Given the description of an element on the screen output the (x, y) to click on. 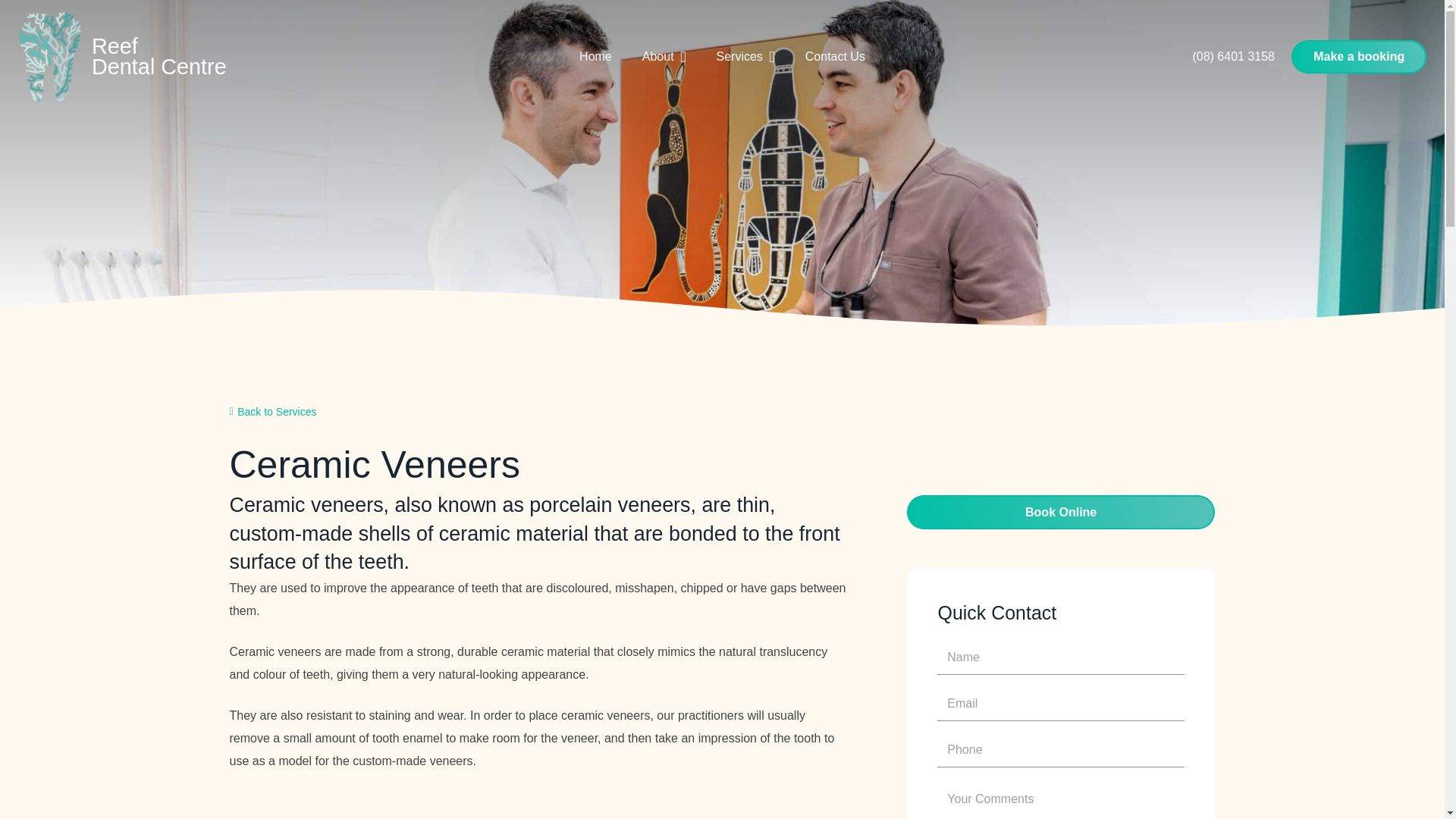
Book Online (1061, 512)
Make a booking (1358, 57)
Back to Services (271, 411)
Home (595, 56)
Services (744, 56)
About (664, 56)
Contact Us (835, 56)
